Given the description of an element on the screen output the (x, y) to click on. 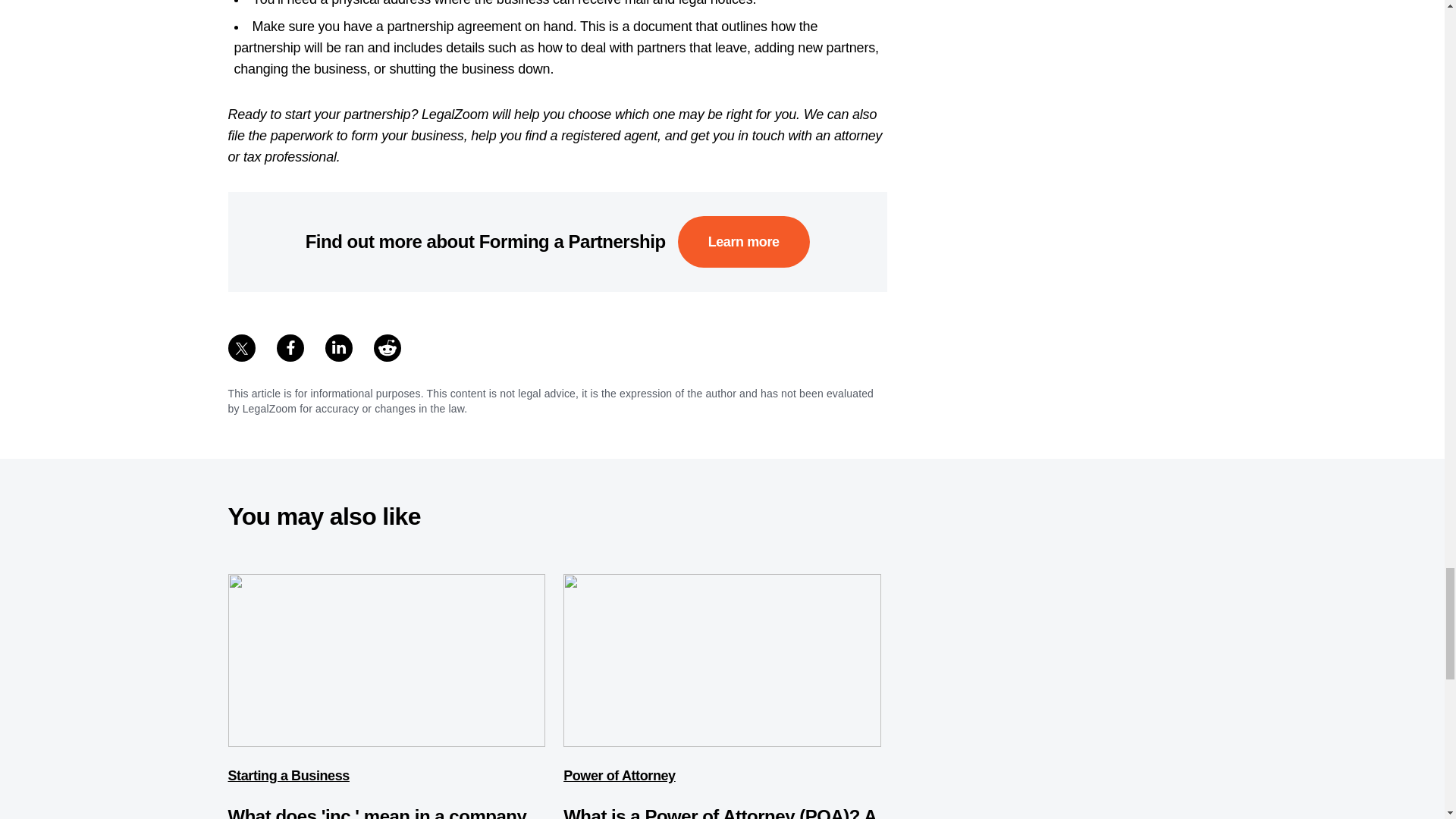
Power of Attorney (619, 775)
Learn more (743, 241)
Share to Facebook (289, 347)
Starting a Business (288, 775)
Share to Reddit (386, 347)
Share to Twitter (240, 347)
Share to LinkedIn (338, 347)
What does 'inc.' mean in a company name? (376, 812)
